Given the description of an element on the screen output the (x, y) to click on. 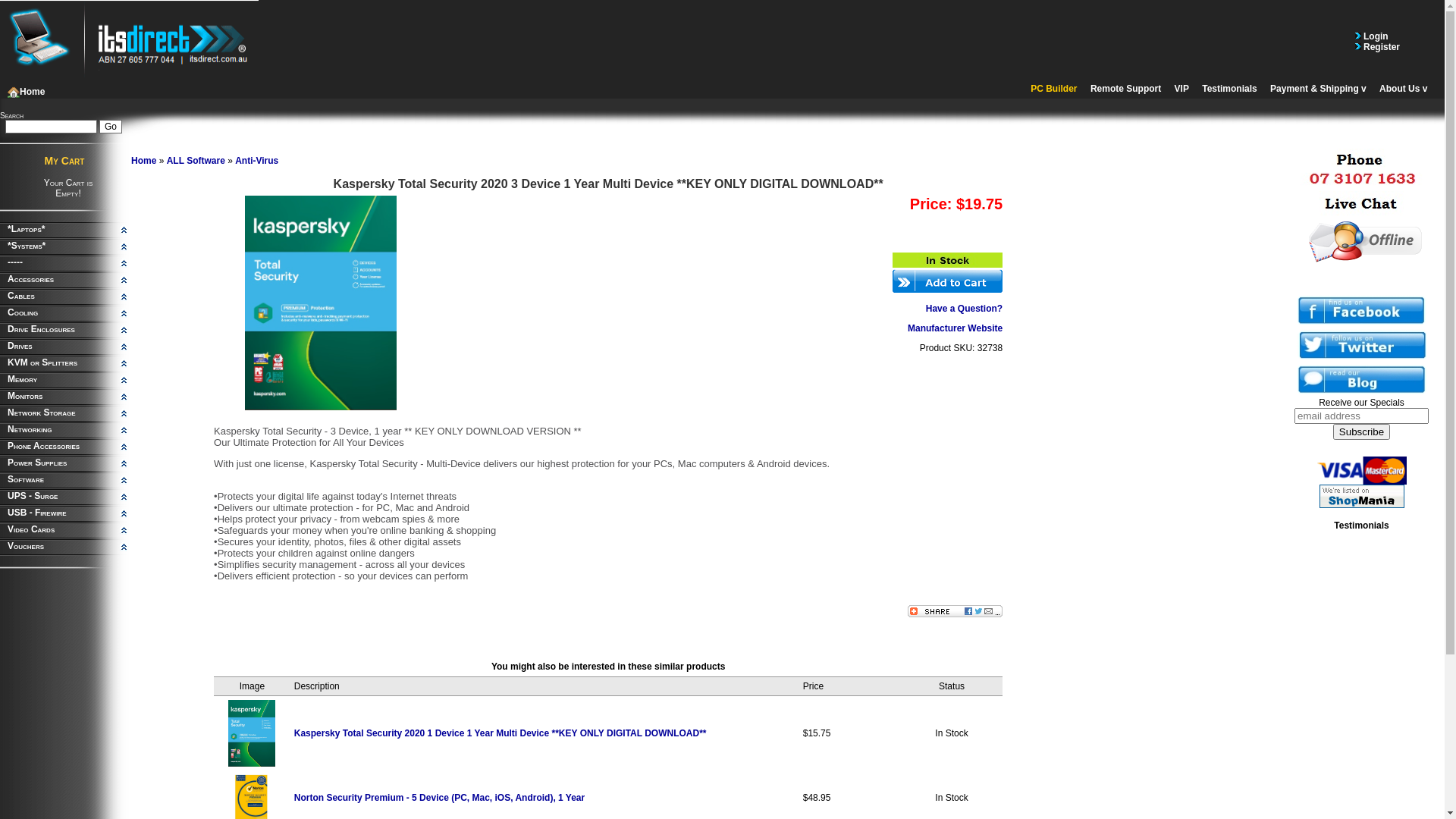
Kaspersky Element type: hover (251, 732)
About Us Element type: text (1403, 88)
Subscribe Element type: text (1361, 431)
Register Element type: text (1380, 45)
Login Element type: text (1374, 35)
My Cart

Your Cart is
Empty! Element type: text (64, 176)
Live Help - Offline Element type: hover (1361, 239)
VIP Element type: text (1181, 88)
Manufacturer Website Element type: text (954, 328)
Testimonials Element type: text (1228, 88)
ALL Software Element type: text (195, 160)
Visit ITSdirect on ShopMania Element type: hover (1361, 495)
Anti-Virus Element type: text (256, 160)
PC Builder Element type: text (1053, 88)
Payment & Shipping Element type: text (1317, 88)
Home Element type: text (143, 160)
Have a Question? Element type: text (963, 308)
Remote Support Element type: text (1125, 88)
Home Element type: text (25, 91)
Go Element type: text (110, 126)
